Given the description of an element on the screen output the (x, y) to click on. 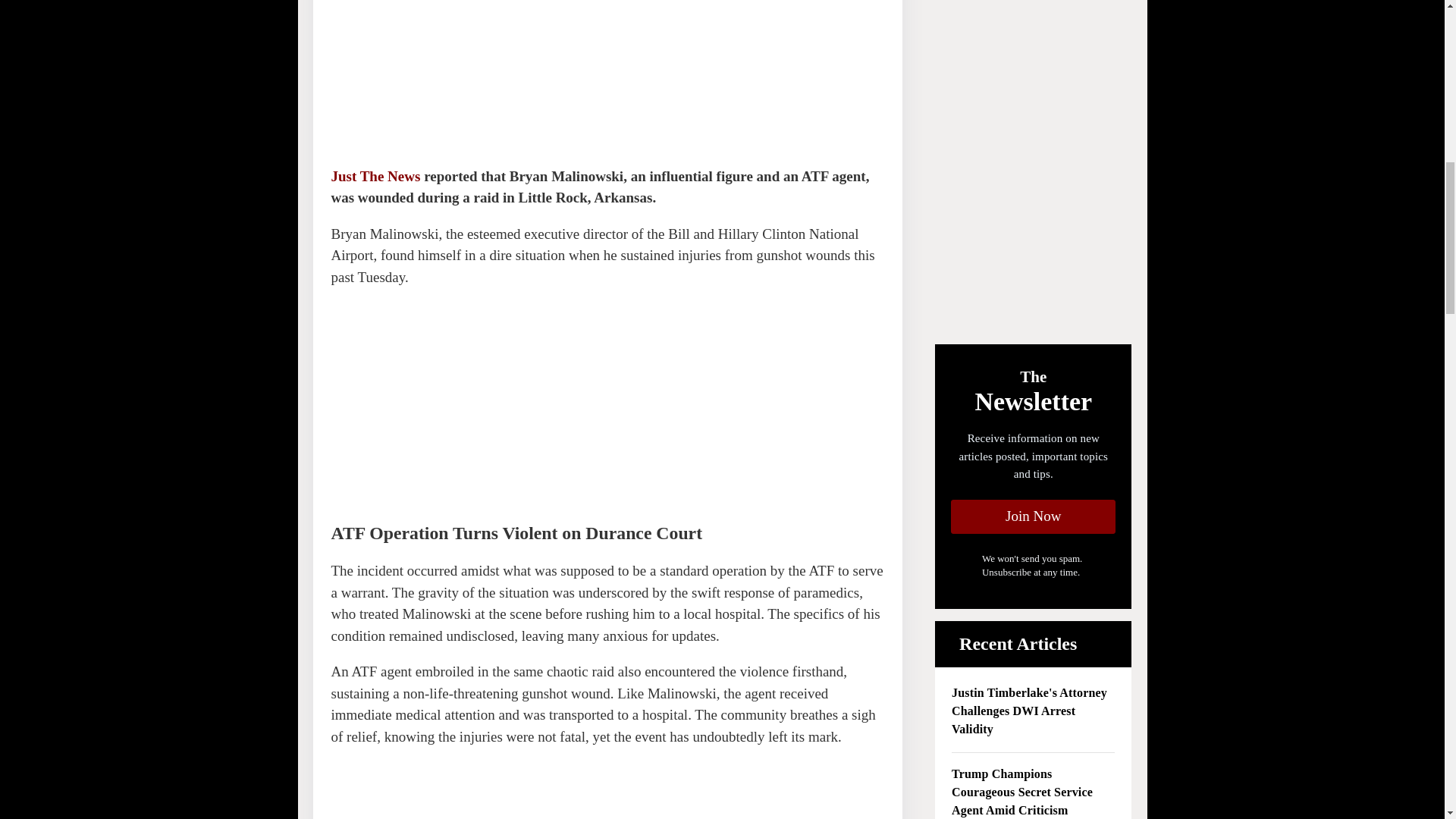
Just The News (375, 176)
Justin Timberlake's Attorney Challenges DWI Arrest Validity (1033, 711)
Join Now (1032, 516)
